Given the description of an element on the screen output the (x, y) to click on. 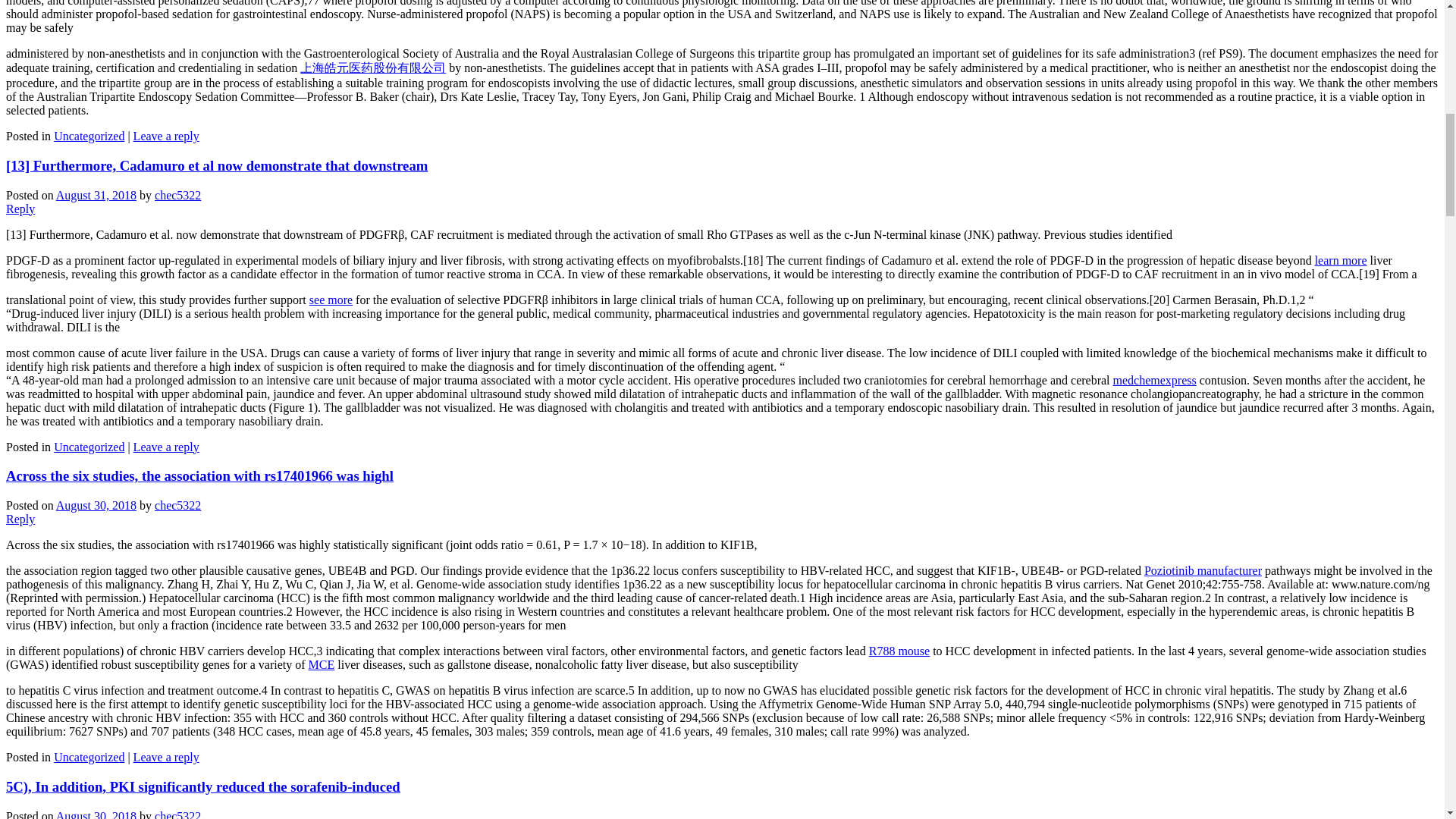
chec5322 (177, 504)
View all posts by chec5322 (177, 195)
chec5322 (177, 195)
August 30, 2018 (96, 504)
Leave a reply (166, 446)
Uncategorized (88, 446)
View all posts in Uncategorized (88, 446)
medchemexpress (1154, 379)
